Given the description of an element on the screen output the (x, y) to click on. 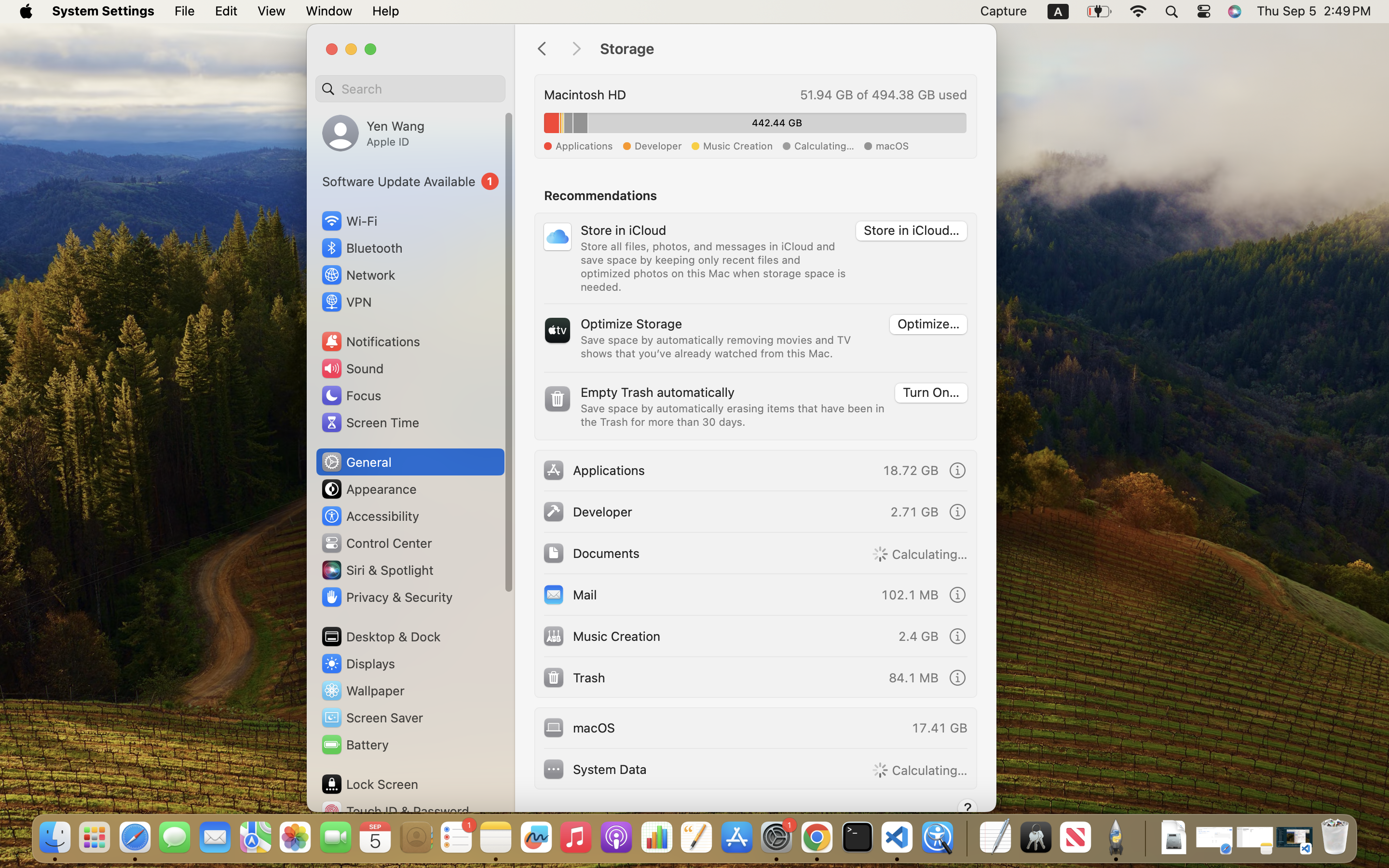
System Data Element type: AXStaticText (594, 768)
Wallpaper Element type: AXStaticText (362, 690)
General Element type: AXStaticText (355, 461)
17.41 GB Element type: AXStaticText (939, 726)
Save space by automatically erasing items that have been in the Trash for more than 30 days. Element type: AXStaticText (732, 414)
